Given the description of an element on the screen output the (x, y) to click on. 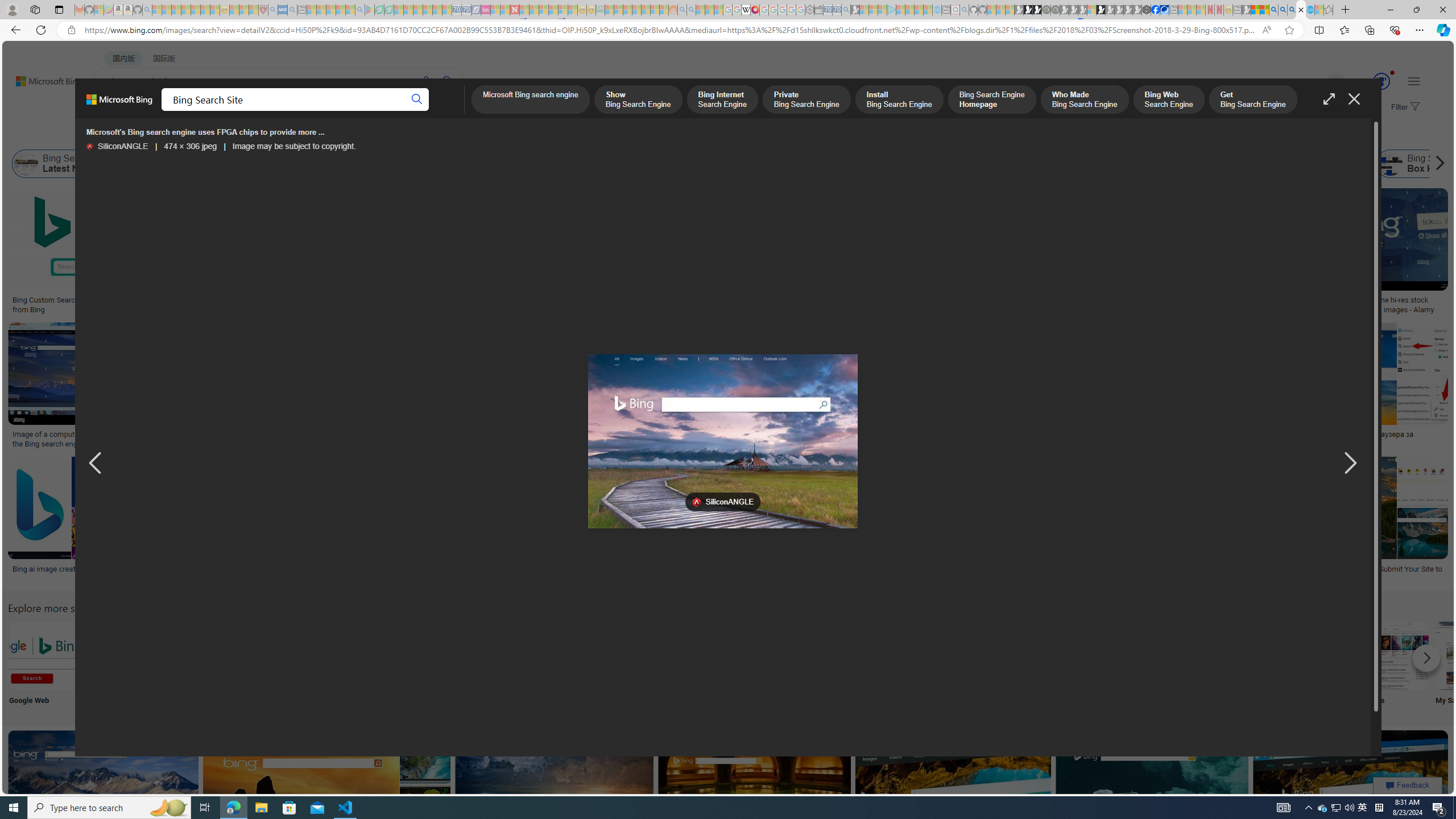
Microsoft Bing, Back to Bing search (118, 104)
Show Bing Search Engine (461, 163)
Random (794, 665)
Related ProductsT-ShirtsHoodiesMugs (805, 252)
